Given the description of an element on the screen output the (x, y) to click on. 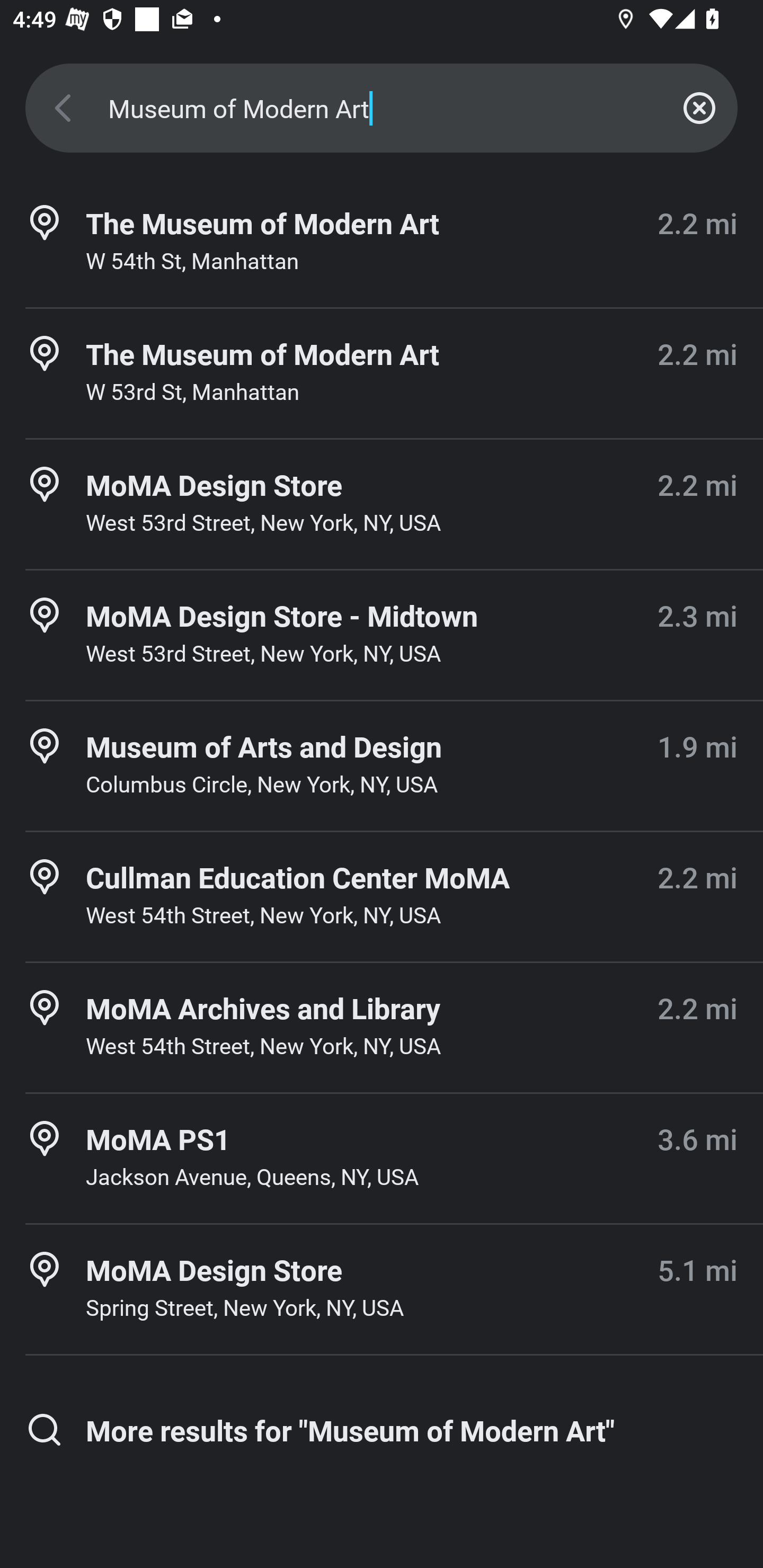
Museum of Modern Art SEARCH_SCREEN_SEARCH_FIELD (381, 108)
MoMA PS1 3.6 mi Jackson Avenue, Queens, NY, USA (381, 1158)
More results for "Museum of Modern Art" (381, 1429)
